Given the description of an element on the screen output the (x, y) to click on. 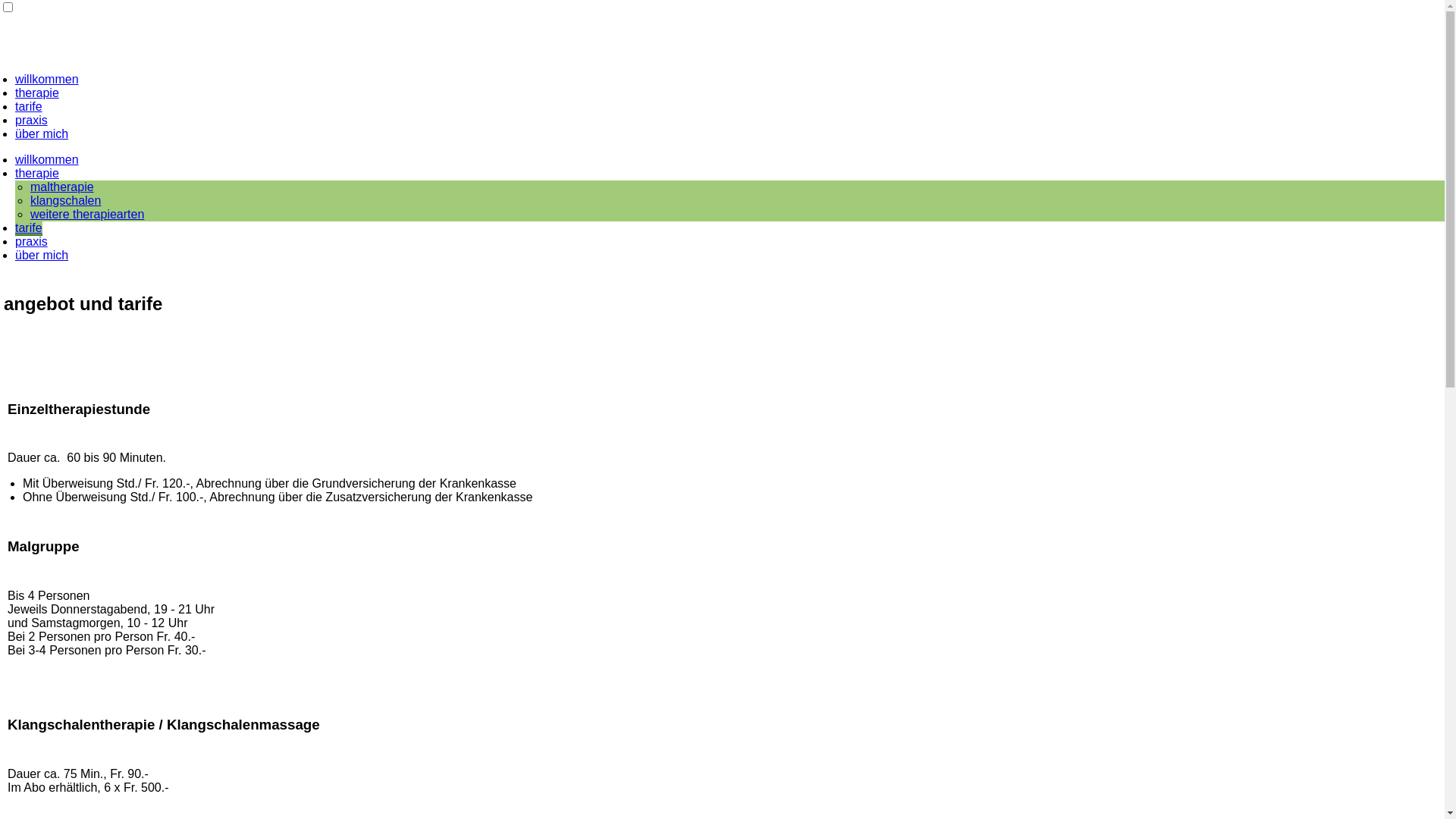
therapie Element type: text (37, 172)
willkommen Element type: text (46, 78)
willkommen Element type: text (46, 159)
weitere therapiearten Element type: text (87, 213)
tarife Element type: text (28, 106)
therapie Element type: text (37, 92)
klangschalen Element type: text (65, 200)
praxis Element type: text (31, 119)
tarife Element type: text (28, 228)
praxis Element type: text (31, 241)
maltherapie Element type: text (62, 186)
